Given the description of an element on the screen output the (x, y) to click on. 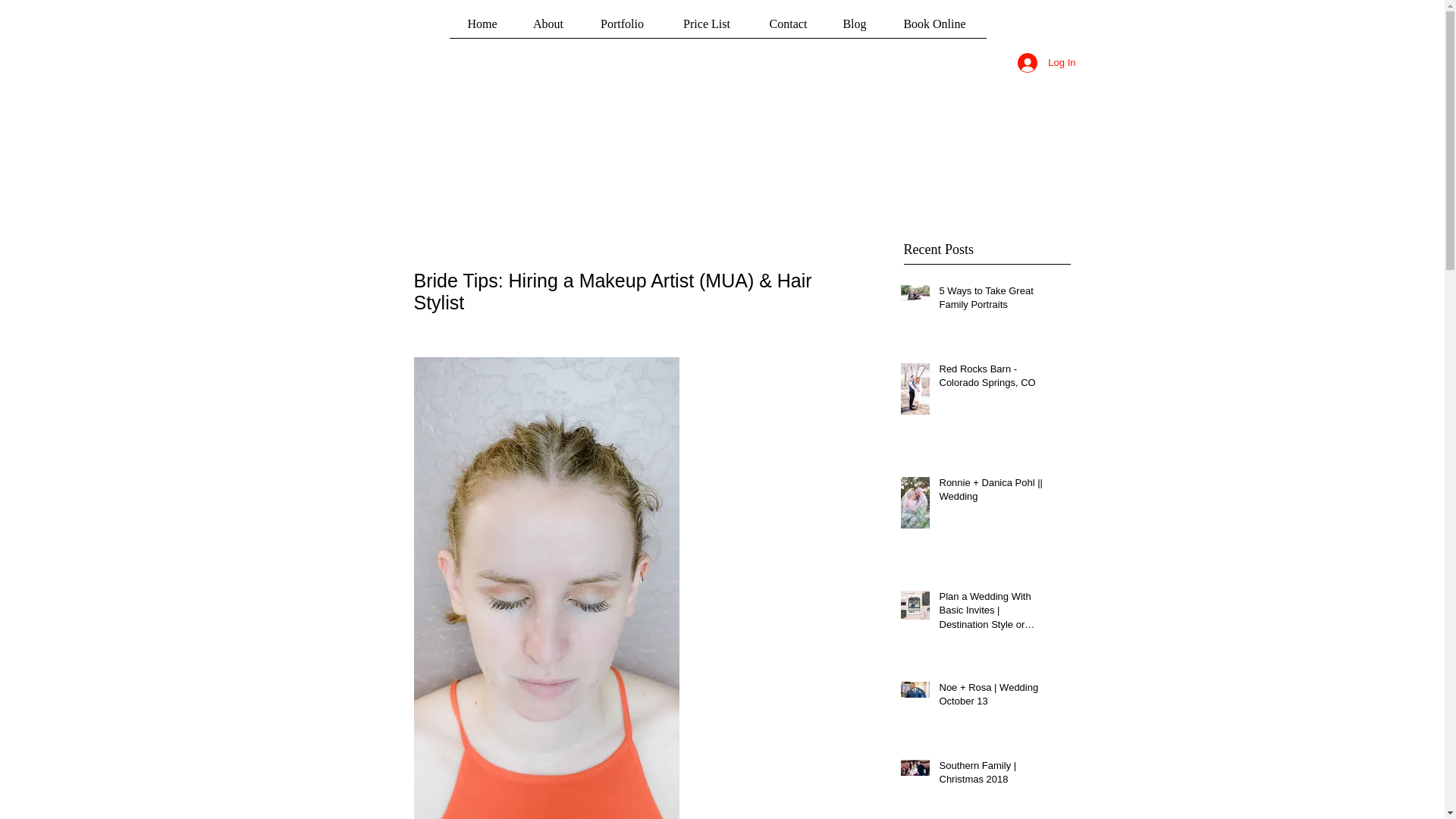
5 Ways to Take Great Family Portraits (993, 300)
Portfolio (621, 28)
Price List (705, 28)
About (547, 28)
Blog (855, 28)
Contact (789, 28)
Red Rocks Barn - Colorado Springs, CO (993, 378)
Home (481, 28)
Book Online (933, 28)
Log In (1046, 62)
